Given the description of an element on the screen output the (x, y) to click on. 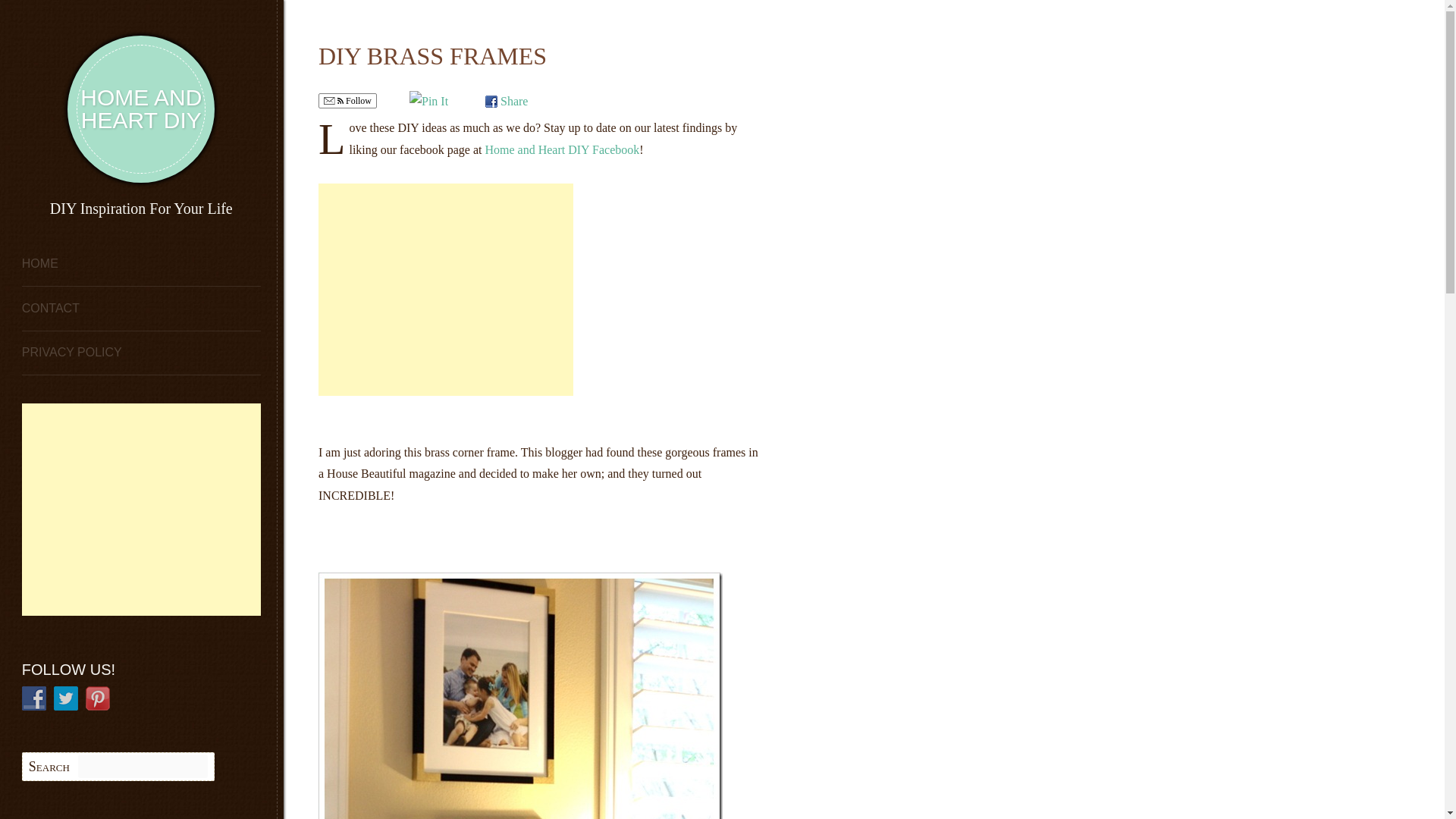
Follow Us on Facebook (33, 698)
Advertisement (148, 509)
PRIVACY POLICY (140, 353)
Advertisement (445, 289)
Search (65, 13)
Share on Facebook (505, 101)
HOME (140, 264)
Follow Us on Pinterest (97, 698)
HOME AND HEART DIY (140, 109)
CONTACT (140, 308)
Follow Us on Twitter (65, 698)
SKIP TO CONTENT (76, 264)
Skip to content (76, 264)
Email, RSS (333, 102)
Home and Heart DIY (140, 109)
